Given the description of an element on the screen output the (x, y) to click on. 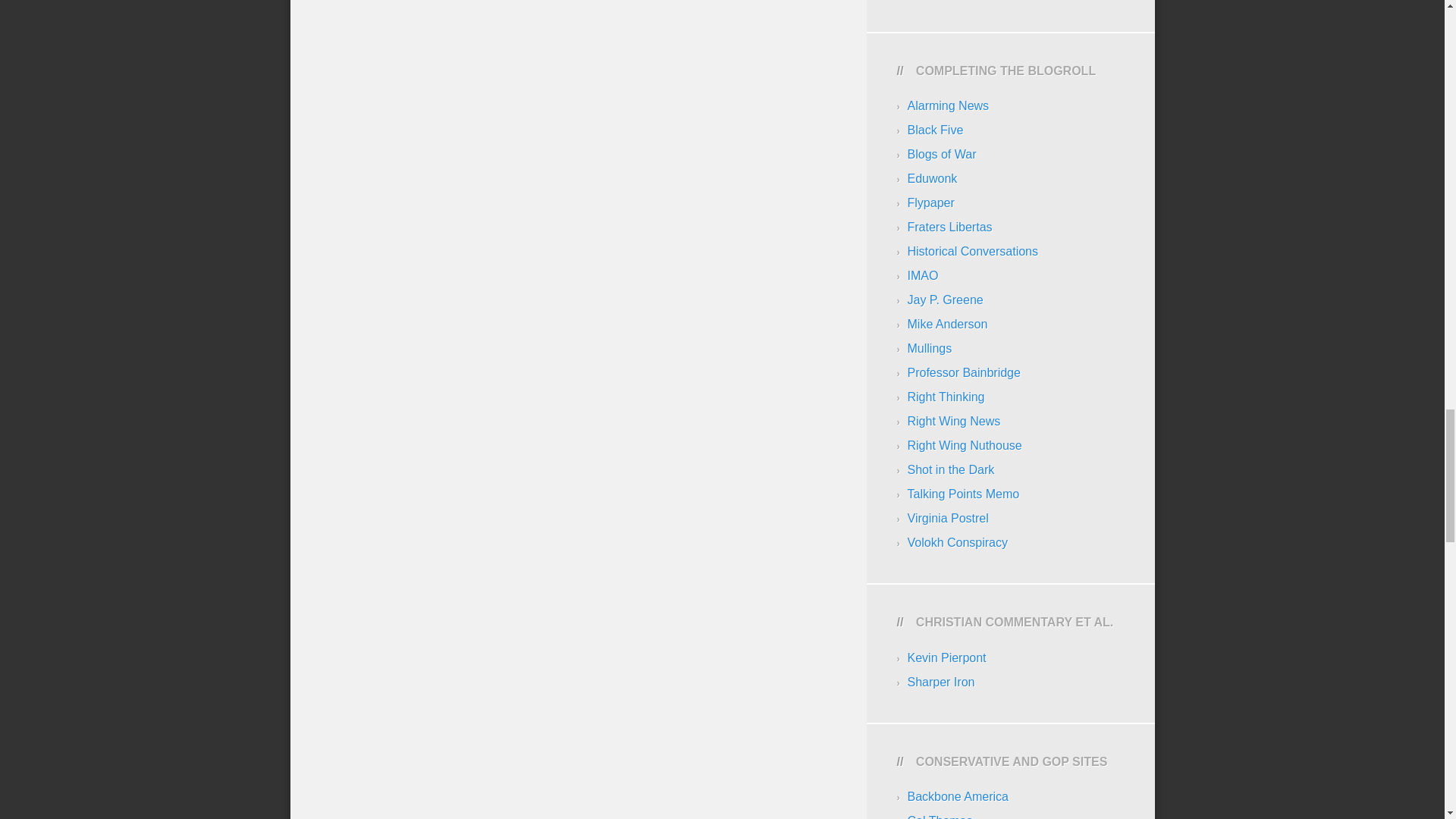
Education watercooler talk from Fordham Foundation (930, 202)
